Given the description of an element on the screen output the (x, y) to click on. 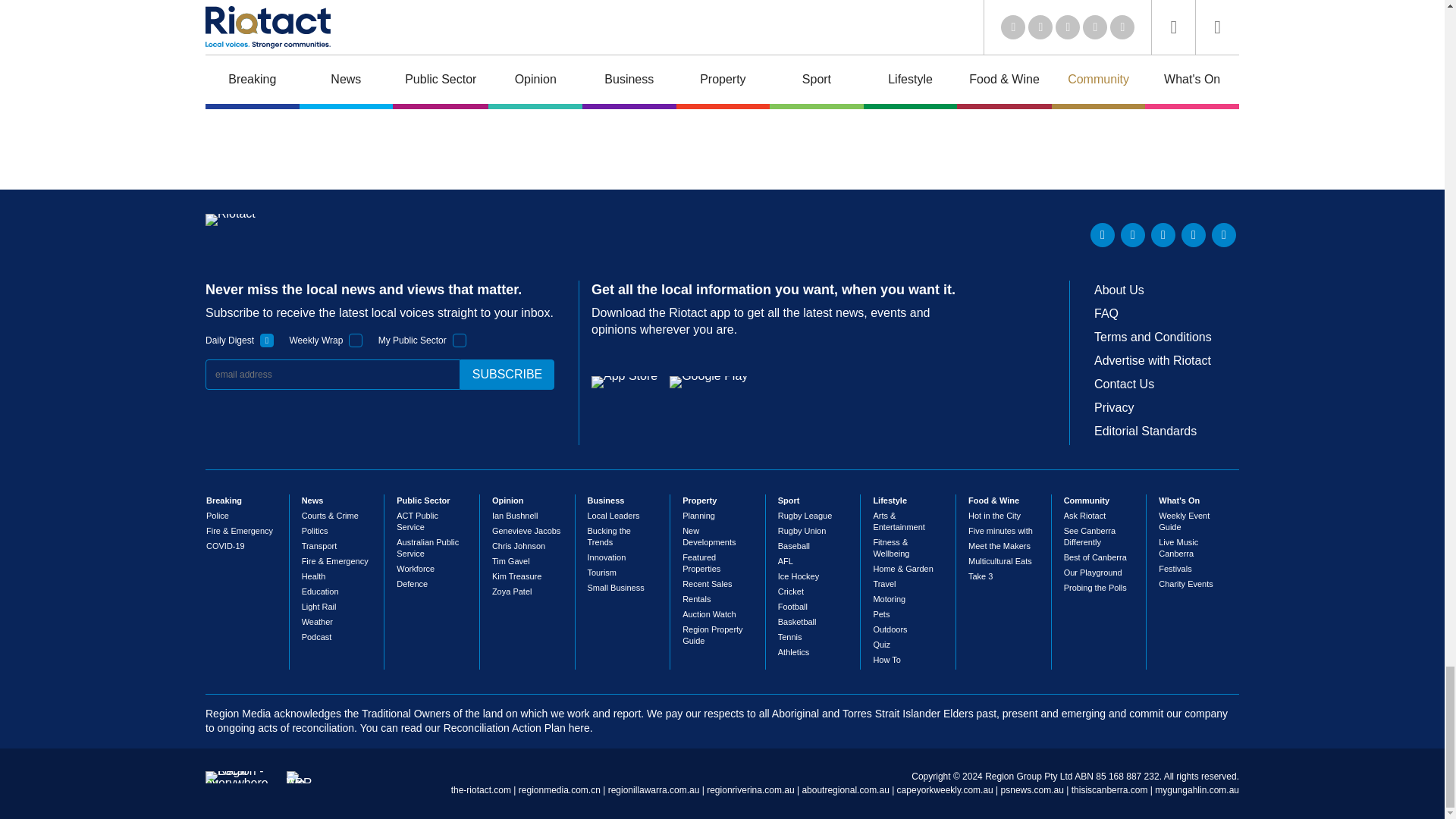
1 (458, 340)
1 (355, 340)
subscribe (507, 374)
1 (266, 340)
